Given the description of an element on the screen output the (x, y) to click on. 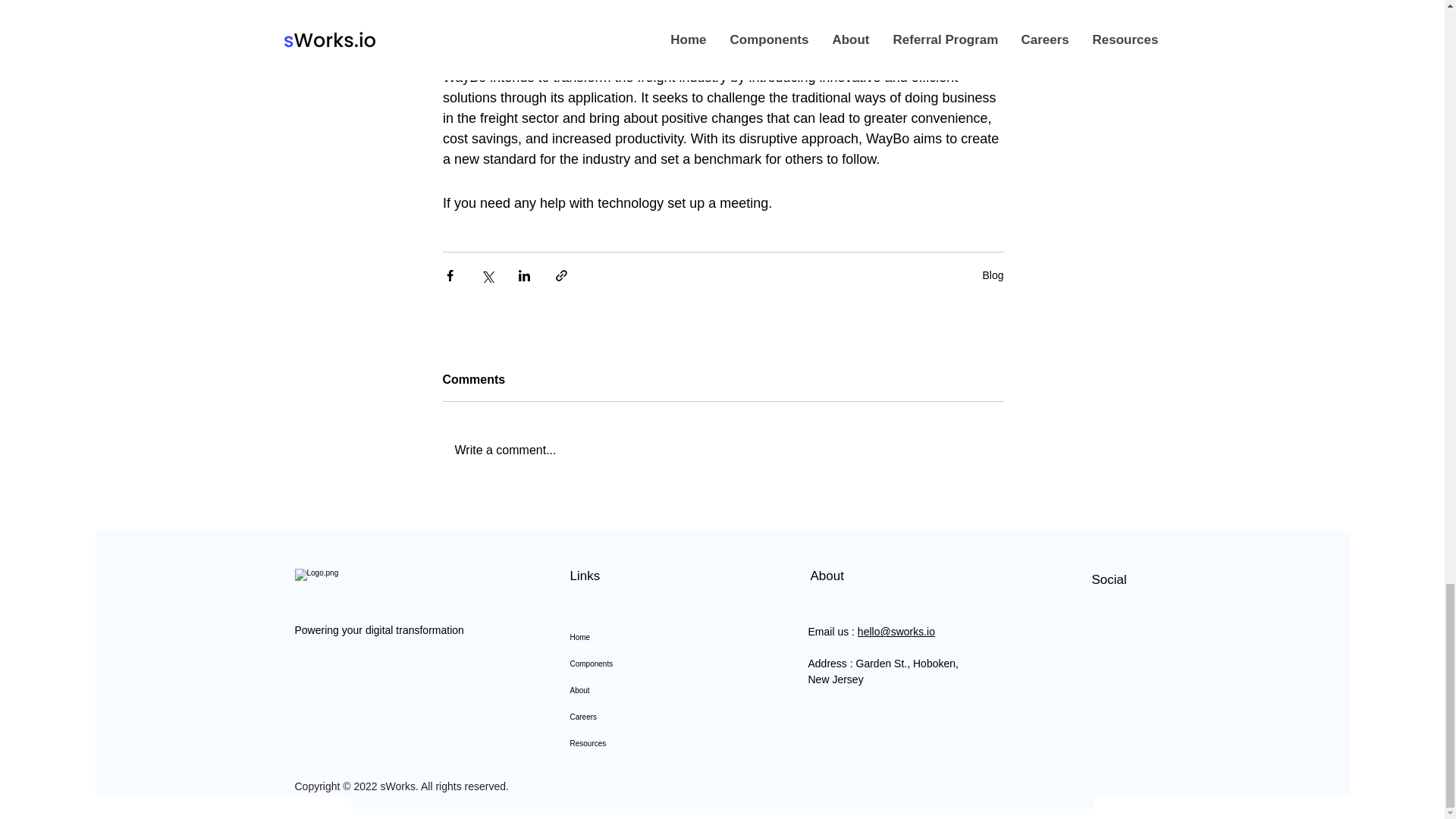
Write a comment... (723, 450)
Components (641, 663)
Home (641, 637)
About (641, 690)
Resources (641, 743)
set up a meeting (717, 202)
Careers (641, 716)
Blog (992, 275)
